Given the description of an element on the screen output the (x, y) to click on. 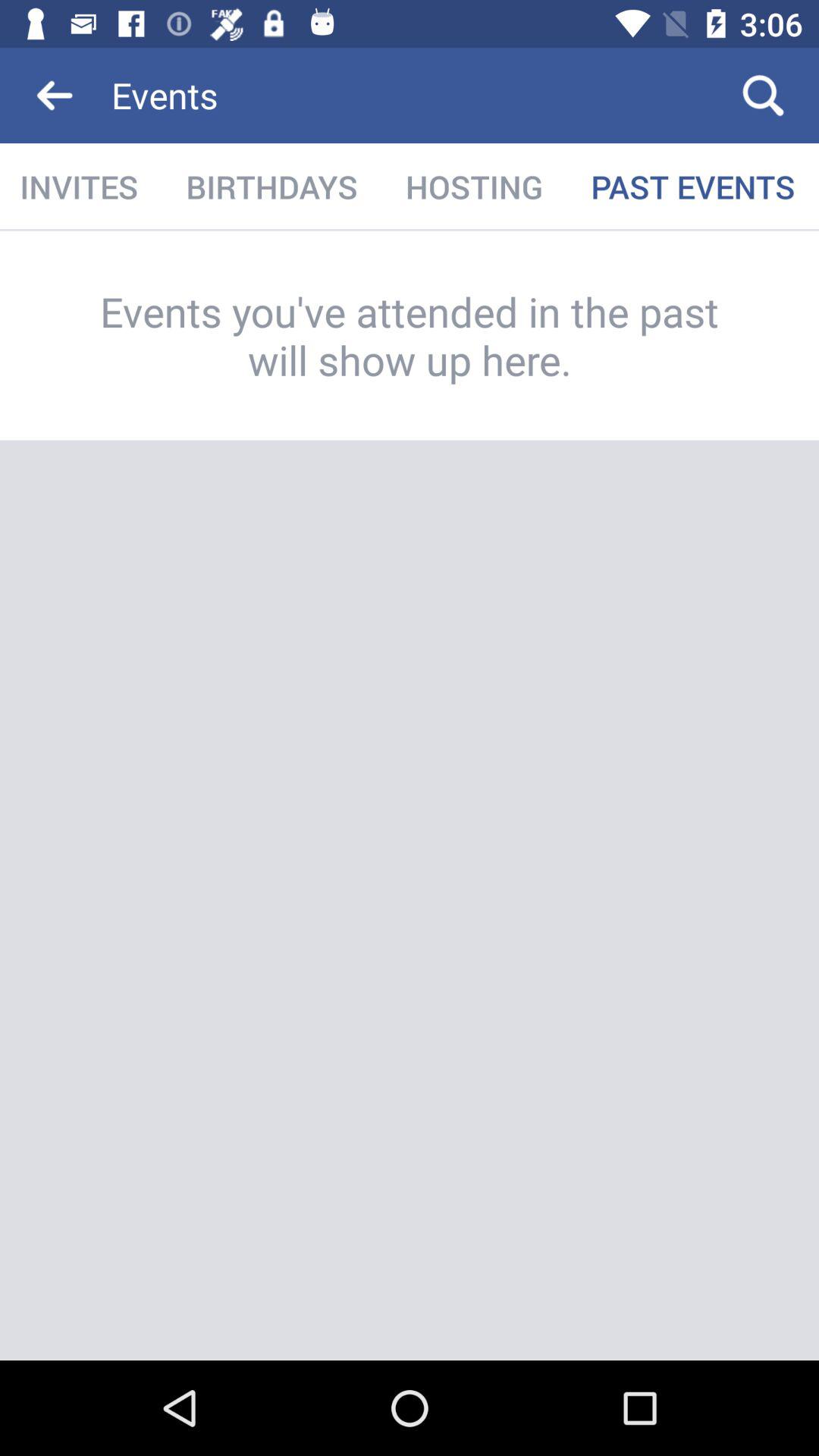
turn on the icon above events you ve (81, 186)
